Given the description of an element on the screen output the (x, y) to click on. 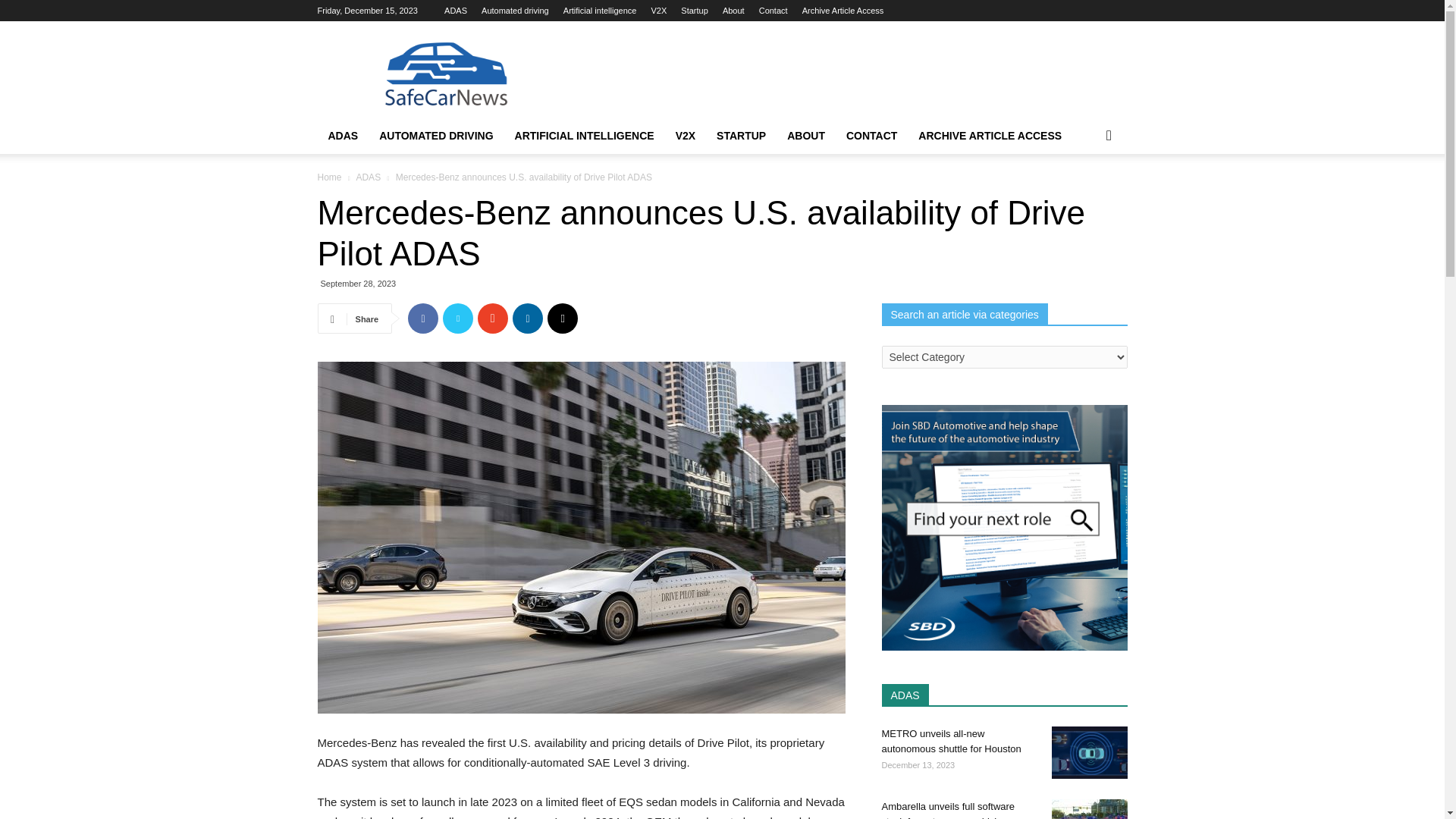
ARTIFICIAL INTELLIGENCE (584, 135)
Artificial intelligence (600, 10)
SafeCarNews Logo (445, 76)
About (733, 10)
V2X (658, 10)
ADAS (455, 10)
AUTOMATED DRIVING (435, 135)
ADAS (342, 135)
ABOUT (805, 135)
